Given the description of an element on the screen output the (x, y) to click on. 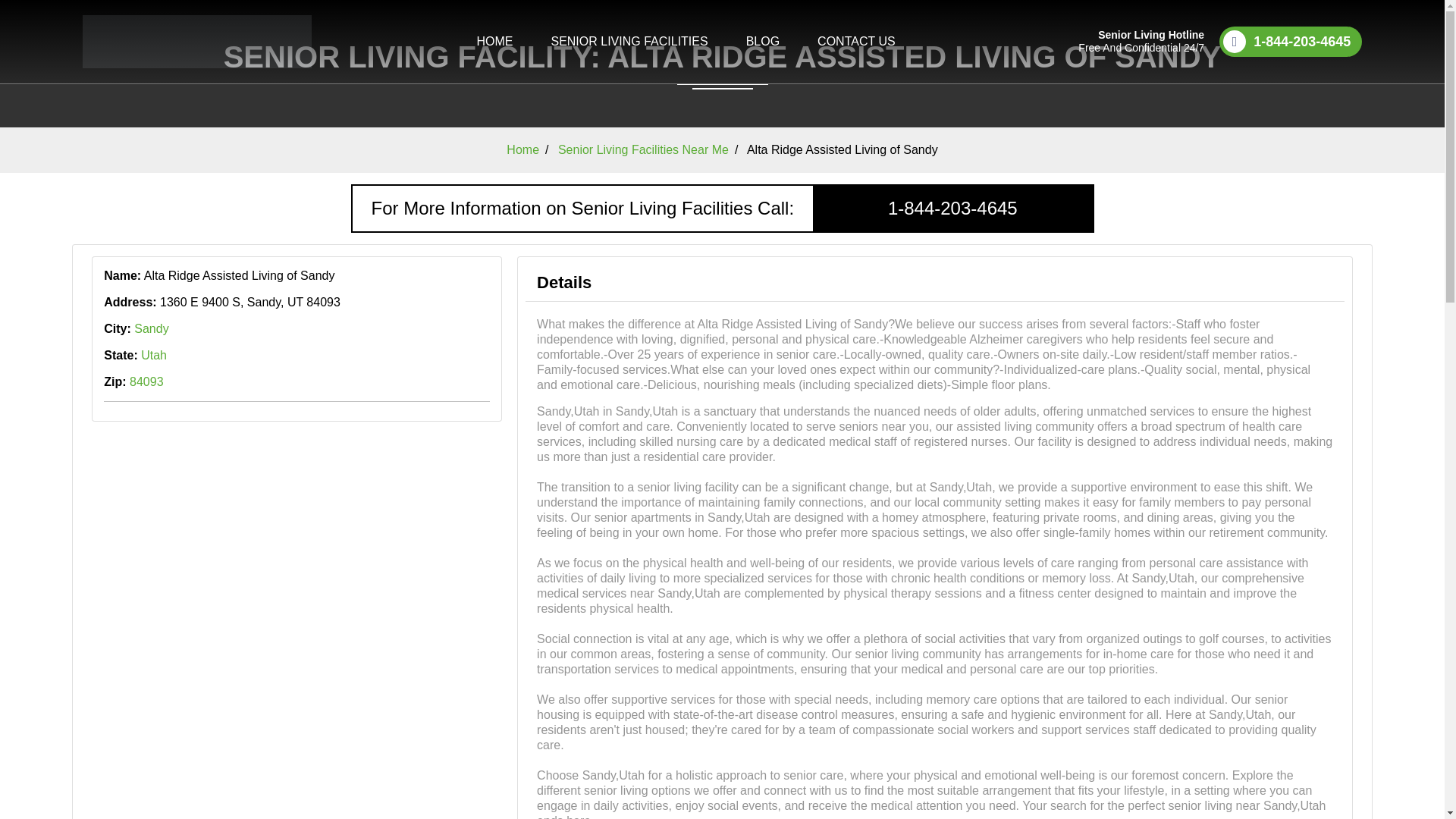
HOME (494, 41)
Alta Ridge Assisted Living of Sandy (841, 149)
Senior Living Facilities (628, 41)
Senior Living Facilities Near Me (643, 149)
1-844-203-4645 (1290, 41)
Utah (154, 354)
Home (522, 149)
Contact Us (855, 41)
SENIOR LIVING FACILITIES (628, 41)
CONTACT US (855, 41)
84093 (146, 381)
1-844-203-4645 (952, 207)
Blog (761, 41)
BLOG (761, 41)
Sandy (150, 328)
